Given the description of an element on the screen output the (x, y) to click on. 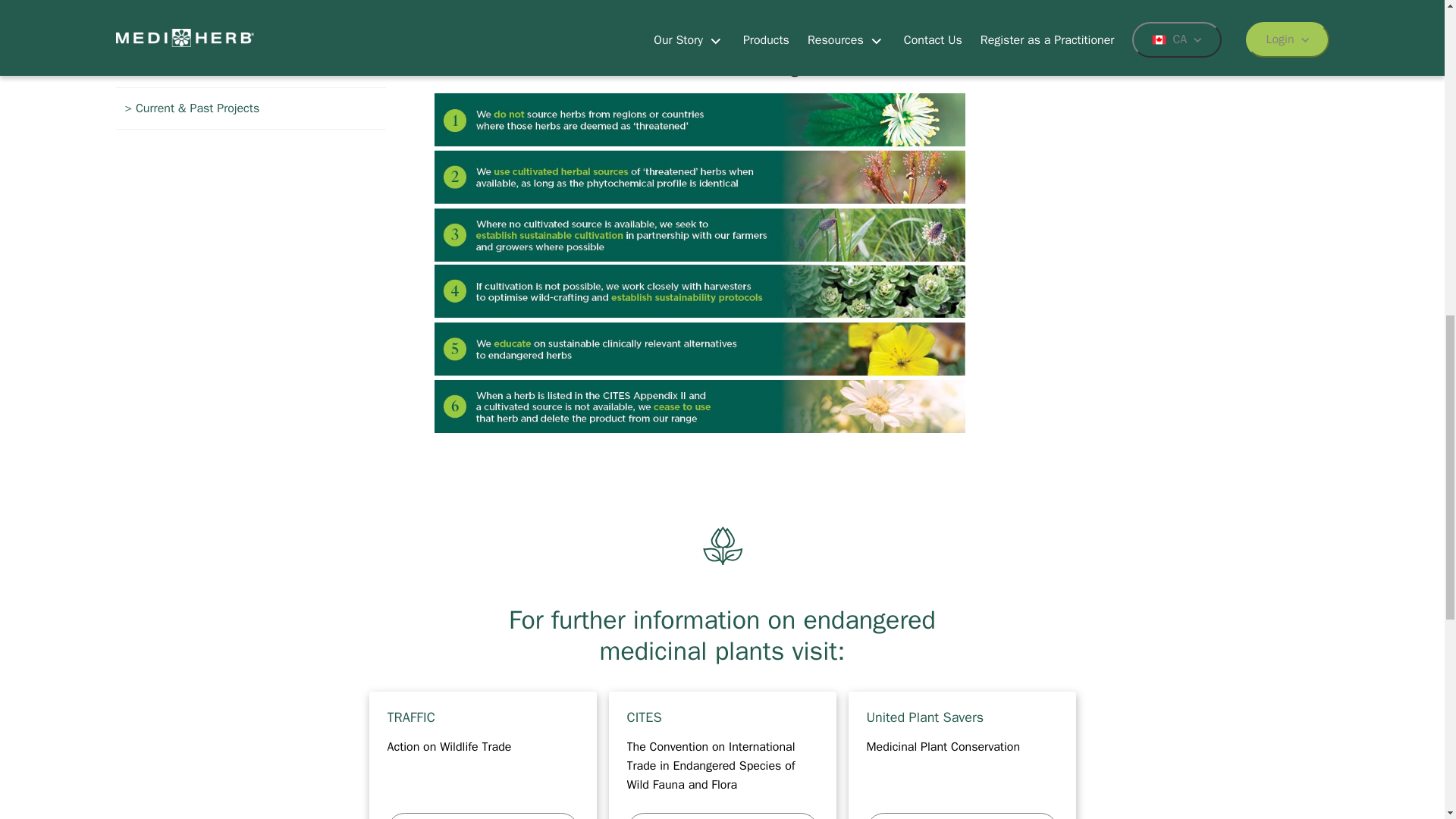
CITES (721, 755)
United Plant Savers (961, 755)
TRAFFIC (481, 755)
